Given the description of an element on the screen output the (x, y) to click on. 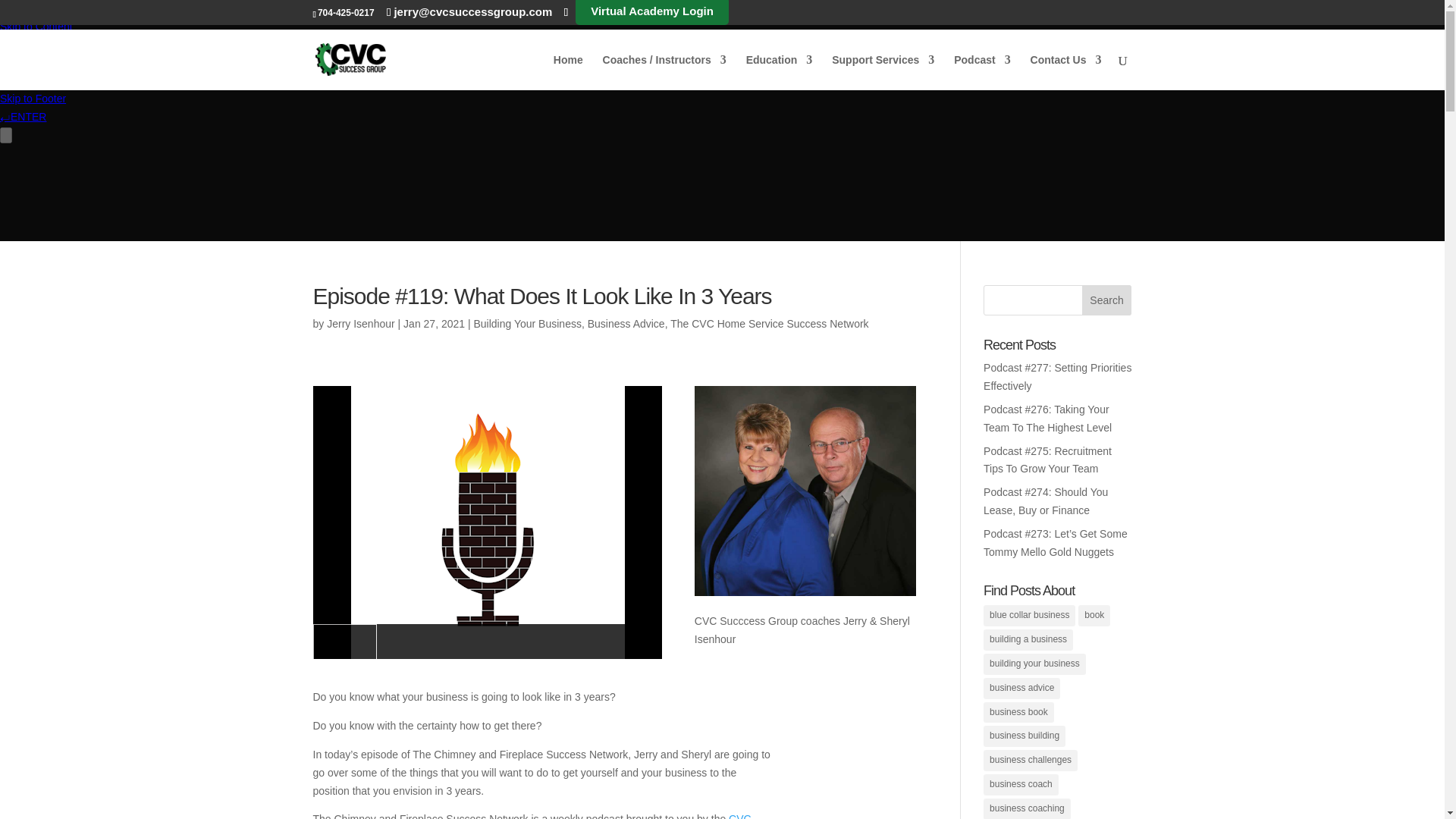
Virtual Academy Login (652, 12)
Posts by Jerry Isenhour (360, 323)
Education (778, 72)
Support Services (882, 72)
Search (1106, 300)
Contact Us (1066, 72)
Podcast (981, 72)
